Given the description of an element on the screen output the (x, y) to click on. 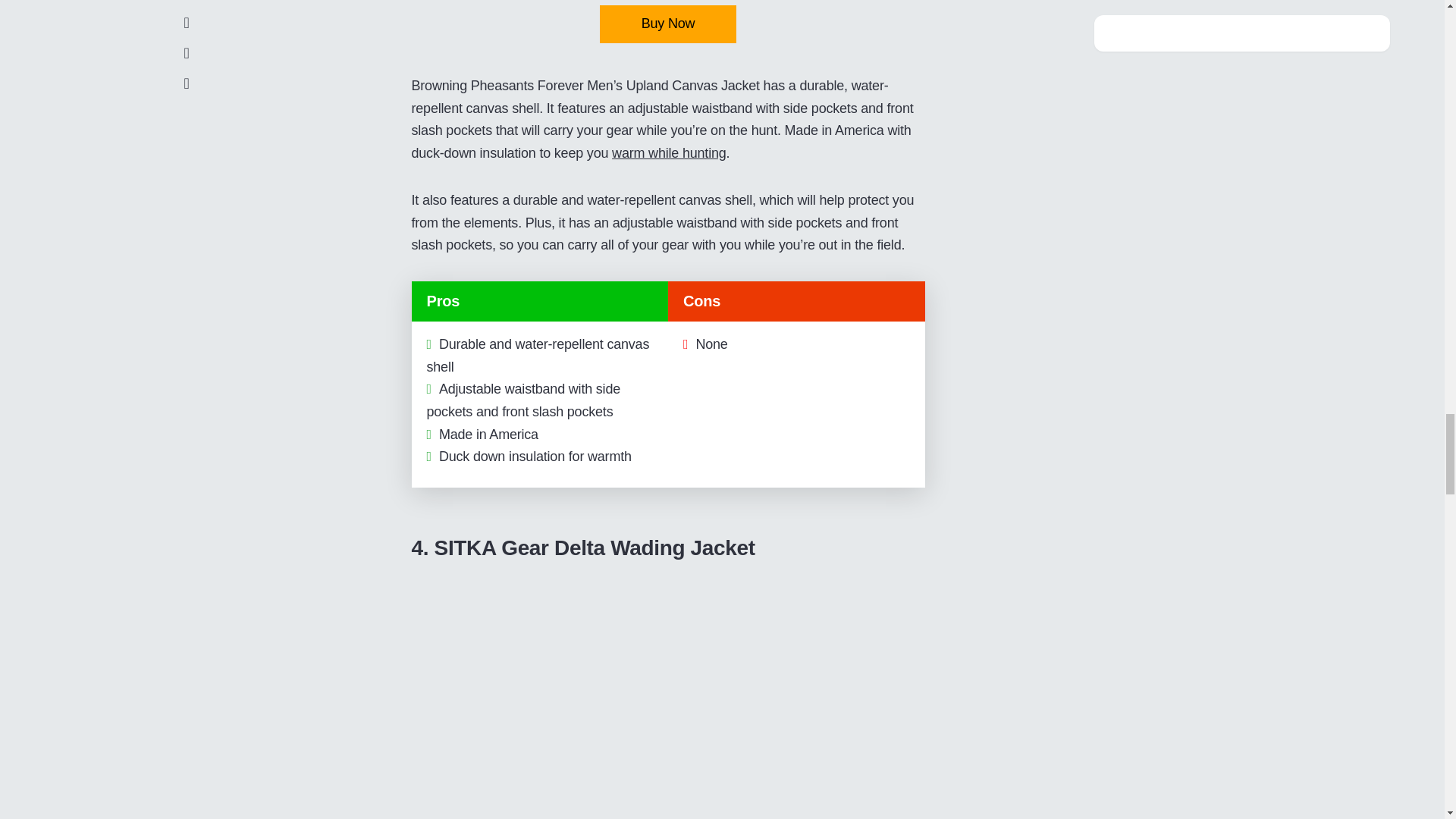
Best Upland Hunting Jacket 13 (667, 701)
